Given the description of an element on the screen output the (x, y) to click on. 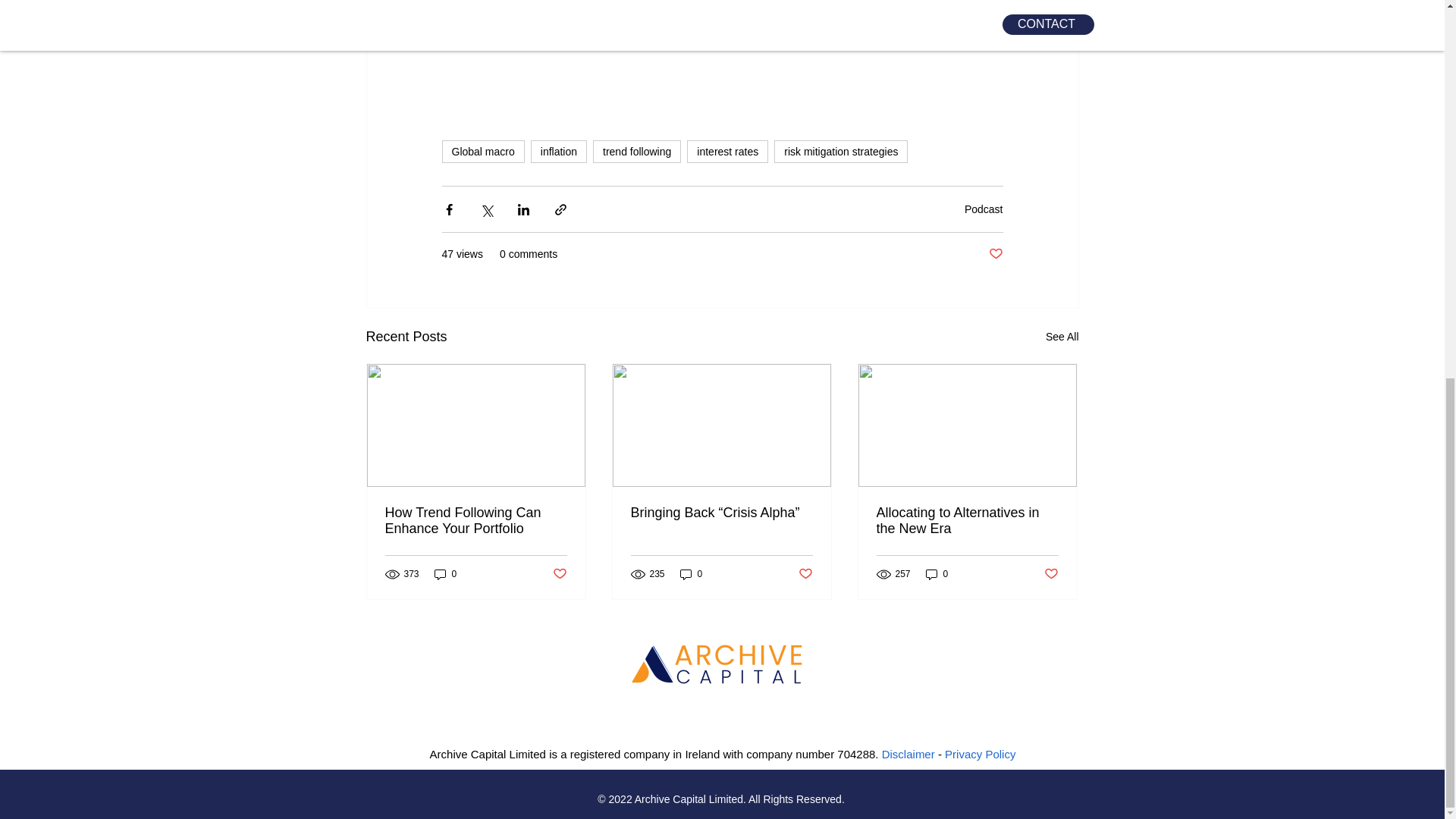
0 (937, 574)
See All (1061, 336)
0 (691, 574)
How Trend Following Can Enhance Your Portfolio (476, 521)
interest rates (727, 151)
risk mitigation strategies (840, 151)
Allocating to Alternatives in the New Era (967, 521)
Post not marked as liked (1050, 573)
Post not marked as liked (558, 573)
Post not marked as liked (804, 573)
Global macro (482, 151)
inflation (558, 151)
trend following (636, 151)
0 (445, 574)
Post not marked as liked (995, 254)
